Given the description of an element on the screen output the (x, y) to click on. 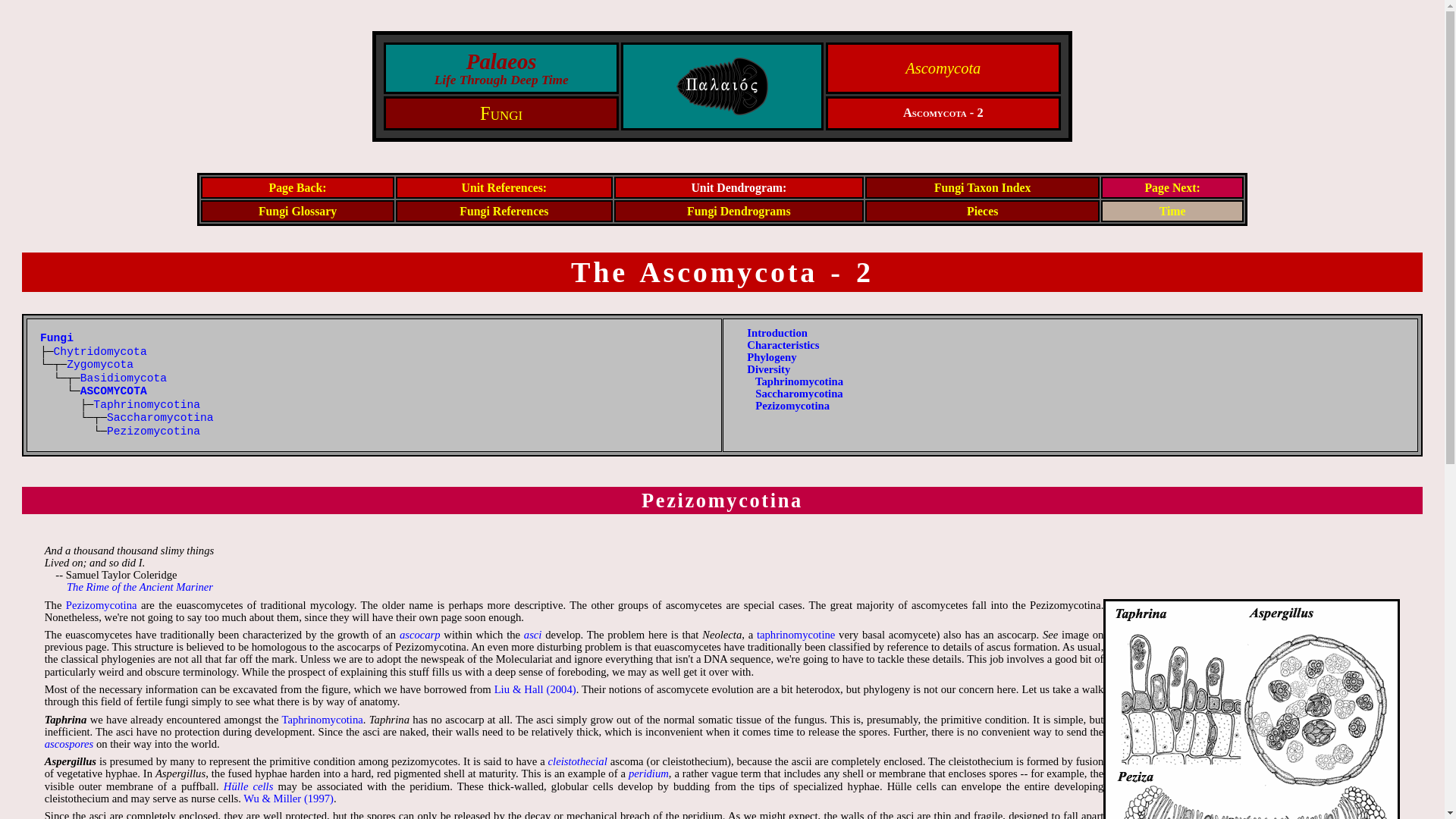
Diversity (768, 369)
Introduction (777, 332)
Pezizomycotina (792, 405)
Saccharomycotina (799, 393)
Taphrinomycotina (799, 381)
Phylogeny (771, 357)
Pezizomycotina (153, 431)
Taphrinomycotina (146, 404)
ASCOMYCOTA (113, 390)
Characteristics (782, 345)
